Given the description of an element on the screen output the (x, y) to click on. 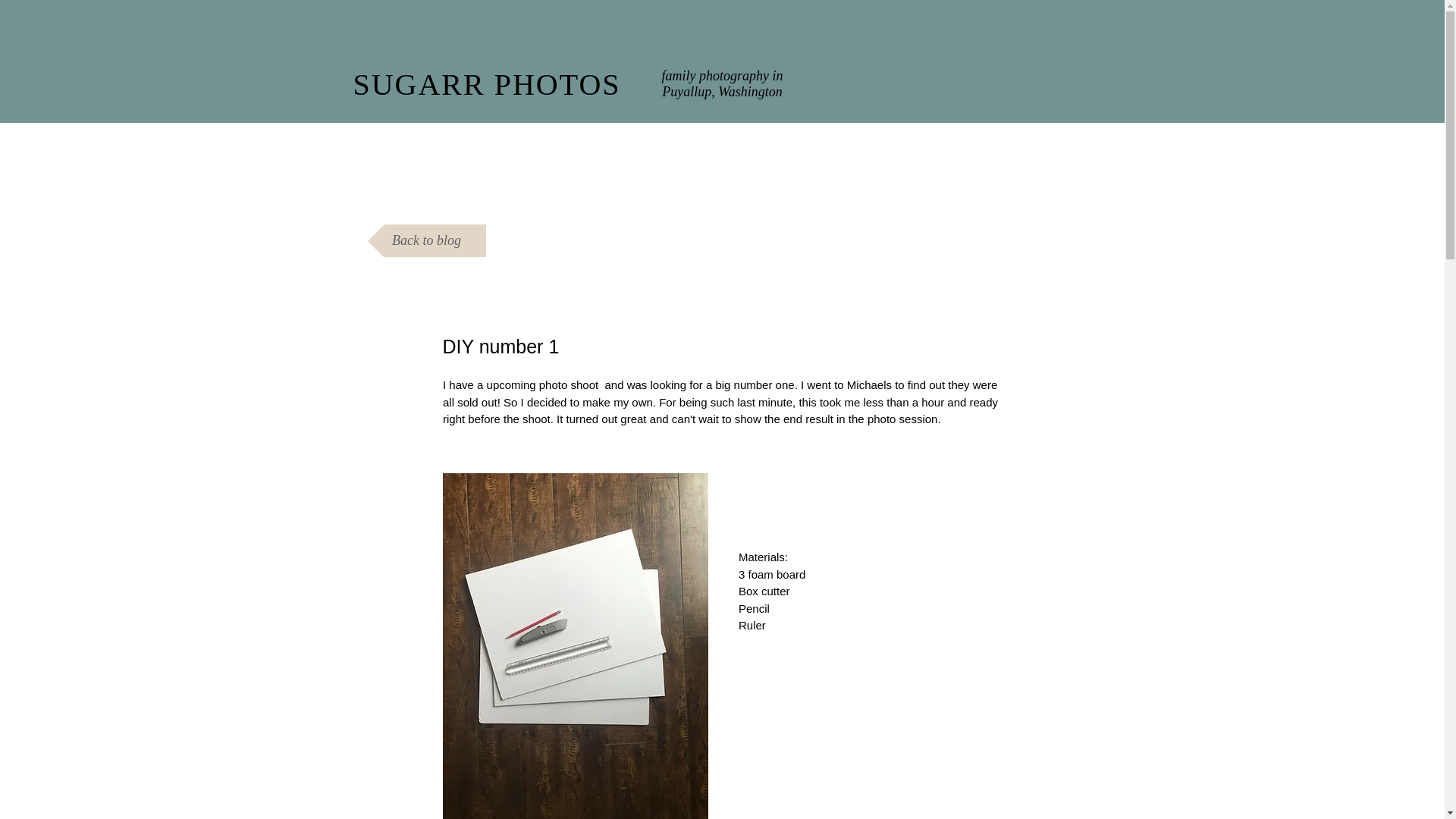
Back to blog (425, 240)
SUGARR PHOTOS (486, 83)
